Given the description of an element on the screen output the (x, y) to click on. 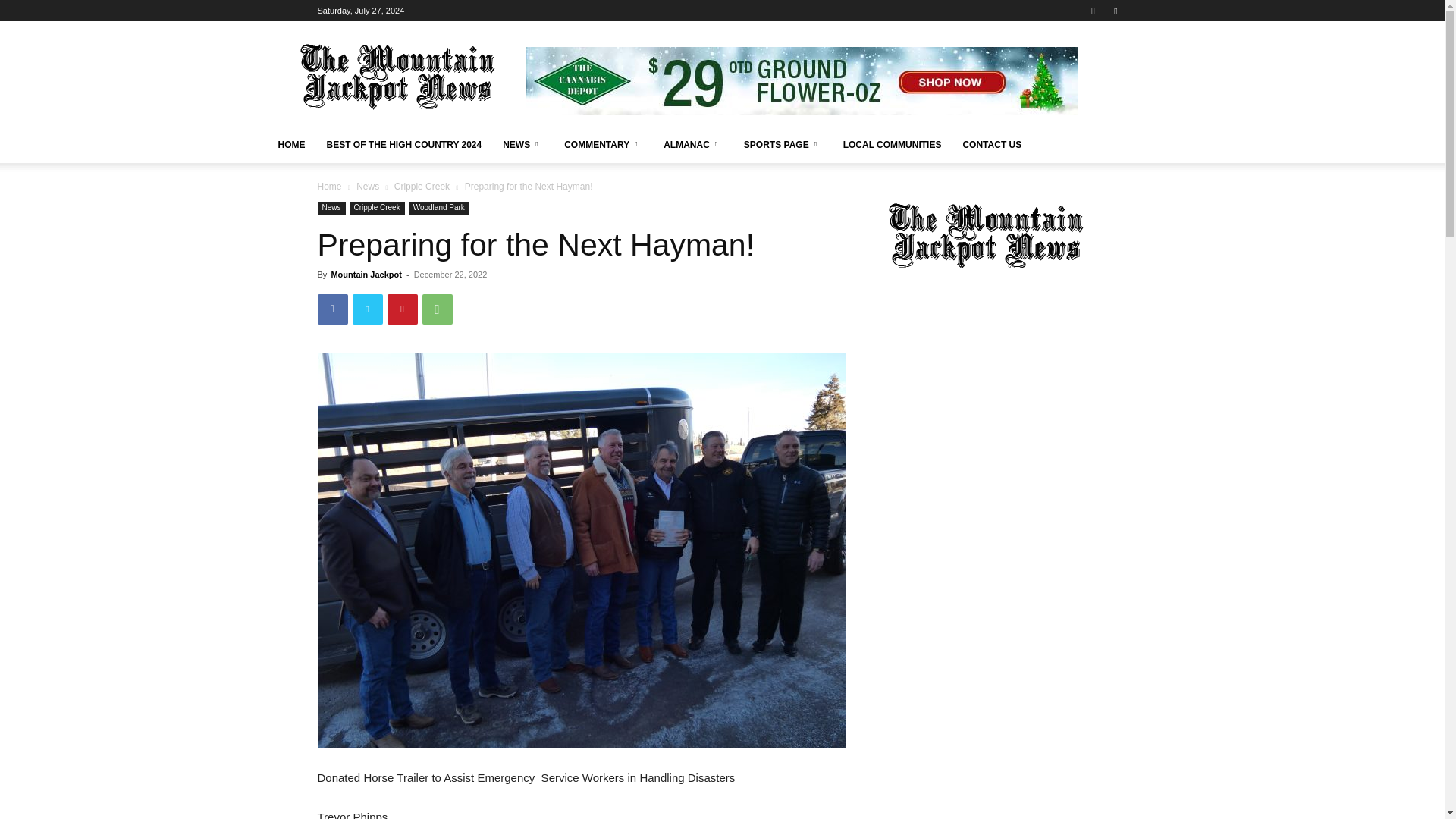
WhatsApp (436, 309)
SPORTS PAGE (782, 144)
Facebook (1114, 10)
NEWS (522, 144)
ALMANAC (692, 144)
Pinterest (401, 309)
BEST OF THE HIGH COUNTRY 2024 (403, 144)
HOME (290, 144)
View all posts in News (367, 185)
Search (1085, 64)
Facebook (332, 309)
View all posts in Cripple Creek (421, 185)
Twitter (366, 309)
COMMENTARY (602, 144)
